Given the description of an element on the screen output the (x, y) to click on. 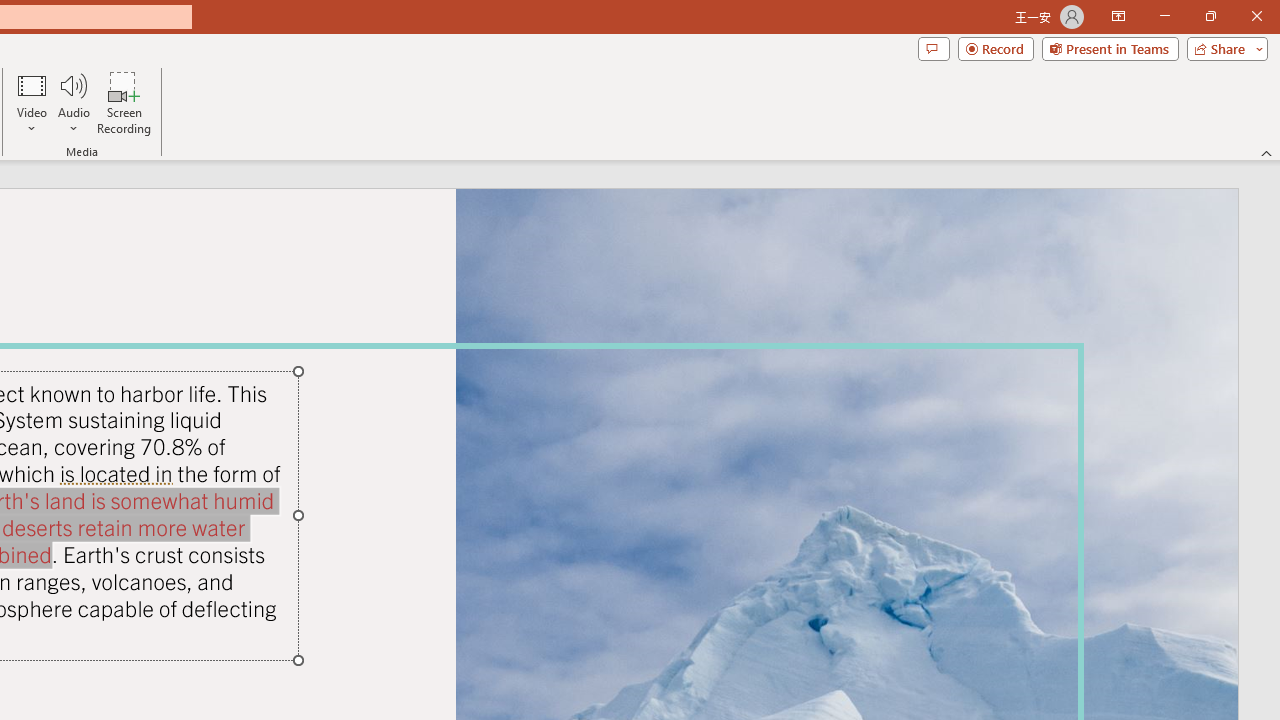
Video (31, 102)
Screen Recording... (123, 102)
Audio (73, 102)
